Given the description of an element on the screen output the (x, y) to click on. 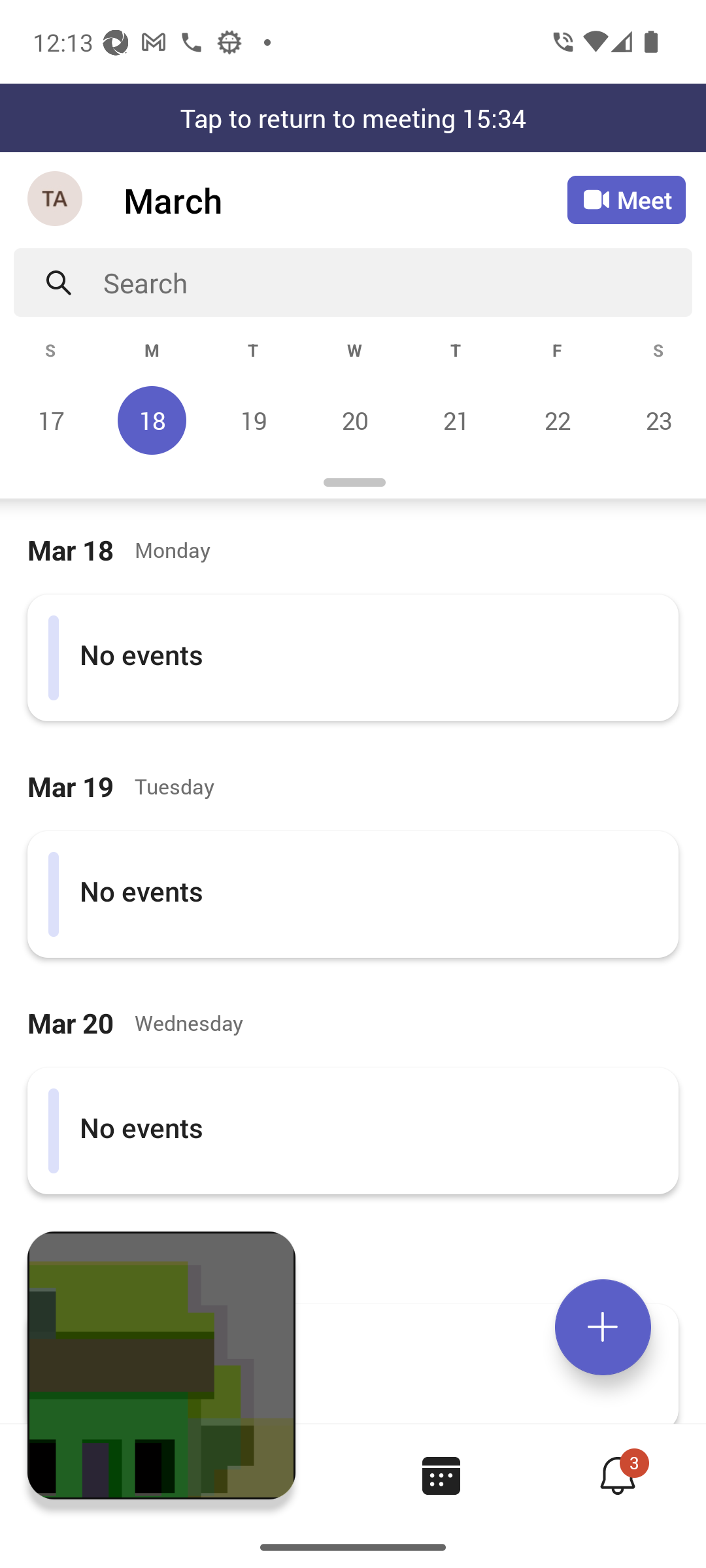
Tap to return to meeting 15:34 (353, 117)
Navigation (56, 199)
Meet Meet now or join with an ID (626, 199)
March March Calendar Agenda View (345, 199)
Search (397, 281)
Sunday, March 17 17 (50, 420)
Monday, March 18, Selected 18 (151, 420)
Tuesday, March 19 19 (253, 420)
Wednesday, March 20 20 (354, 420)
Thursday, March 21 21 (455, 420)
Friday, March 22 22 (556, 420)
Saturday, March 23 23 (656, 420)
Expand meetings menu (602, 1327)
Calendar tab, 3 of 4 (441, 1475)
Activity tab,4 of 4, not selected, 3 new 3 (617, 1475)
